Given the description of an element on the screen output the (x, y) to click on. 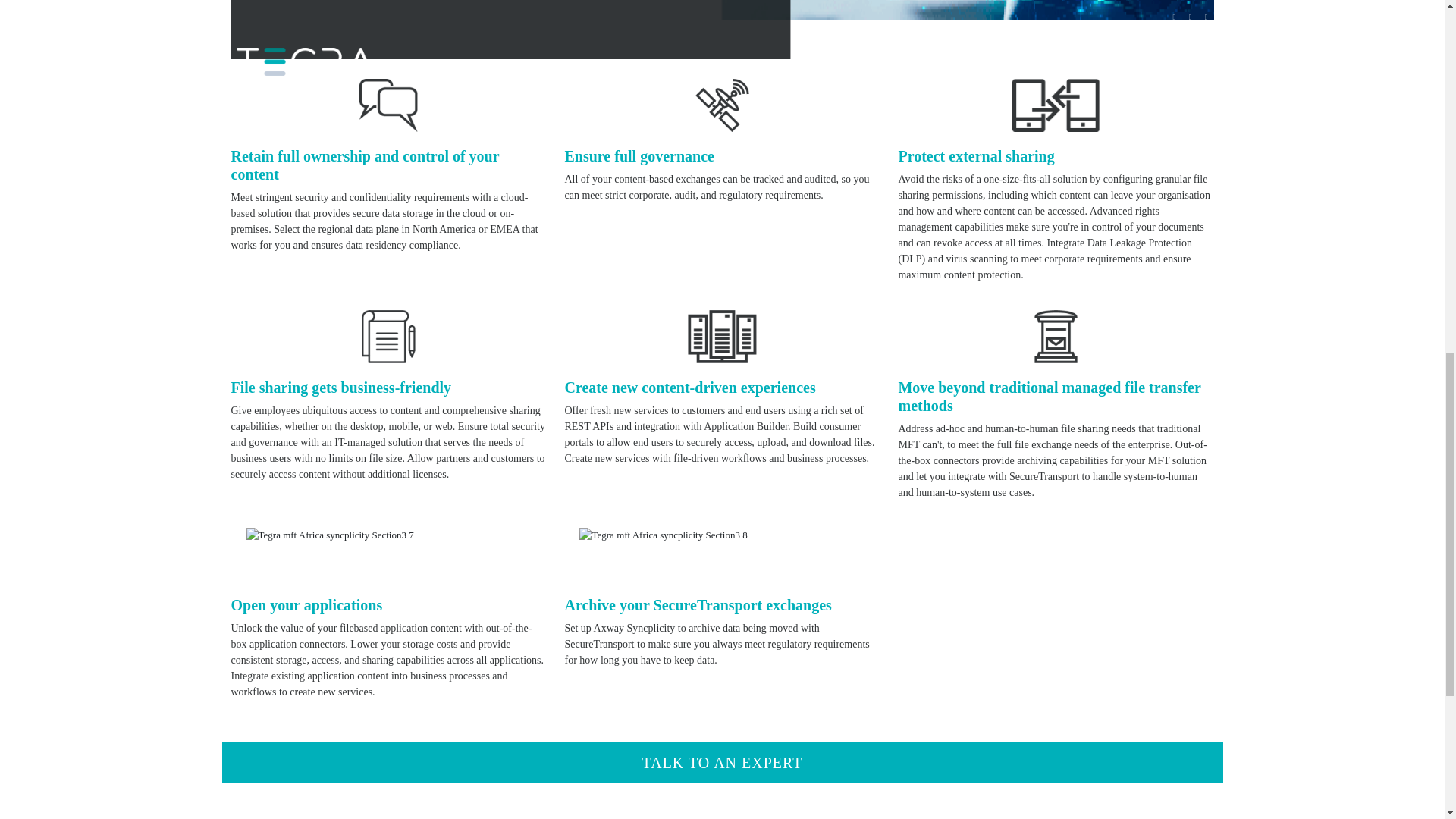
TALK TO AN EXPERT (722, 762)
